Given the description of an element on the screen output the (x, y) to click on. 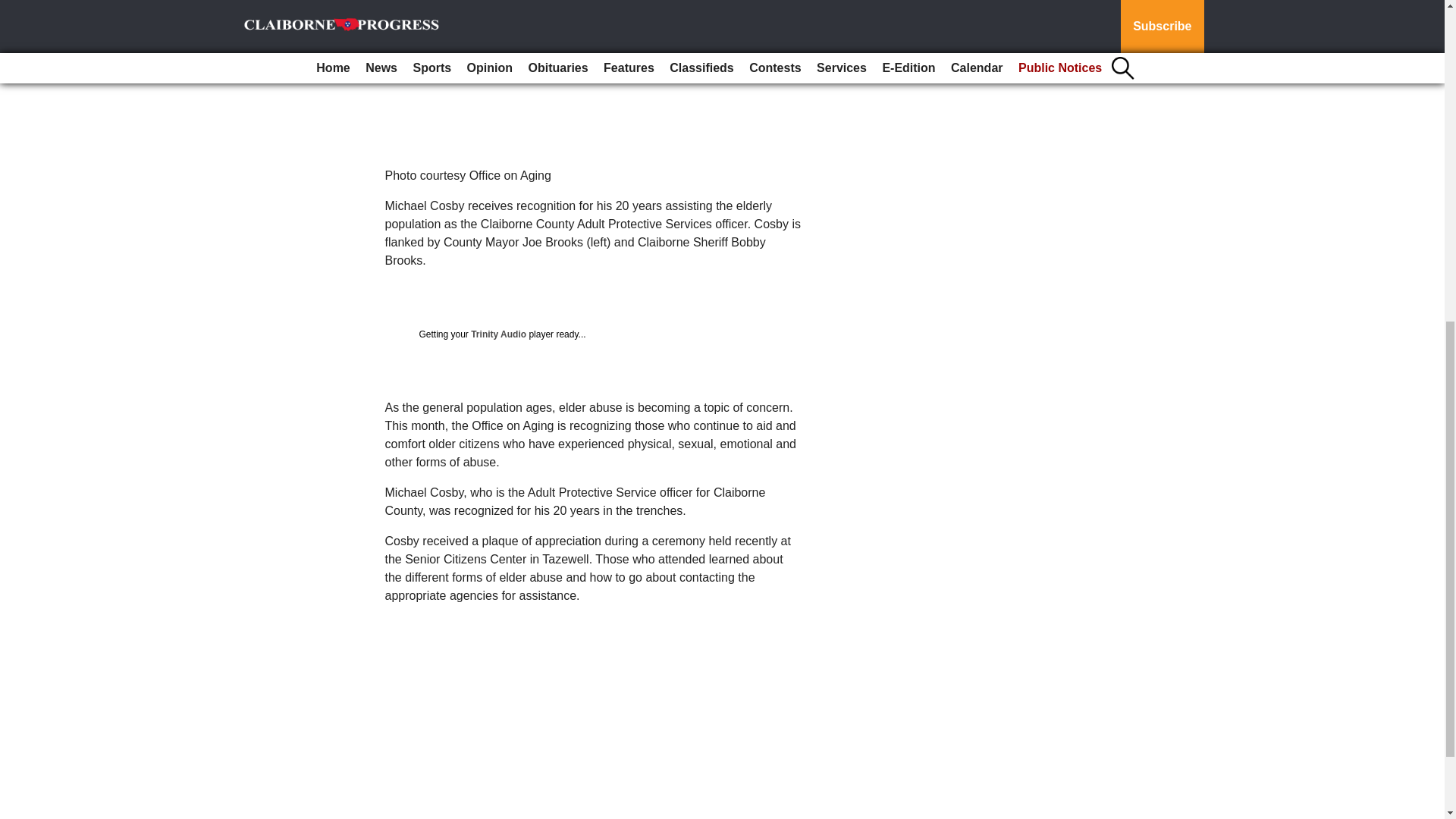
Trinity Audio (497, 334)
